Given the description of an element on the screen output the (x, y) to click on. 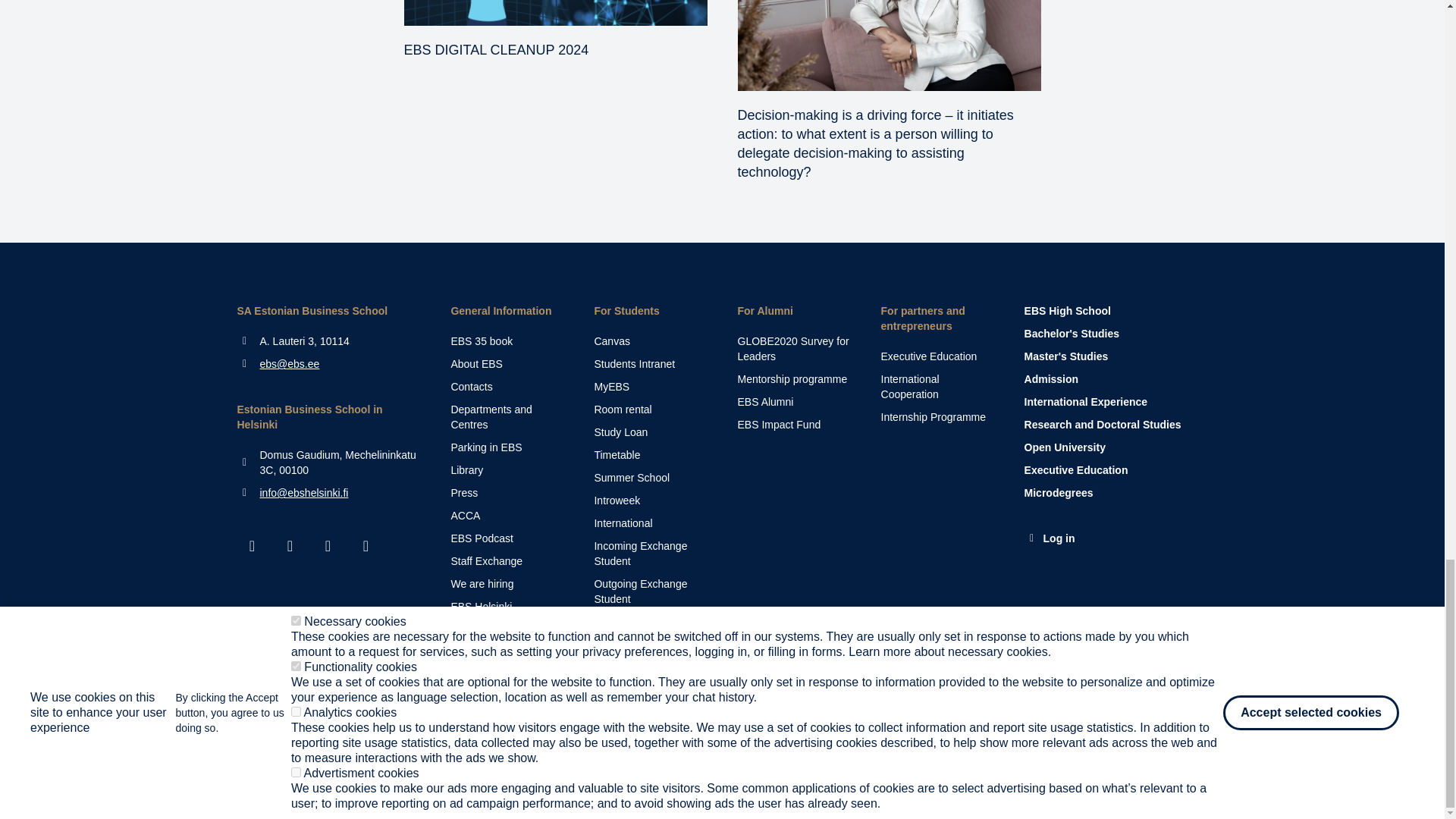
See more (506, 492)
See more (506, 417)
